Given the description of an element on the screen output the (x, y) to click on. 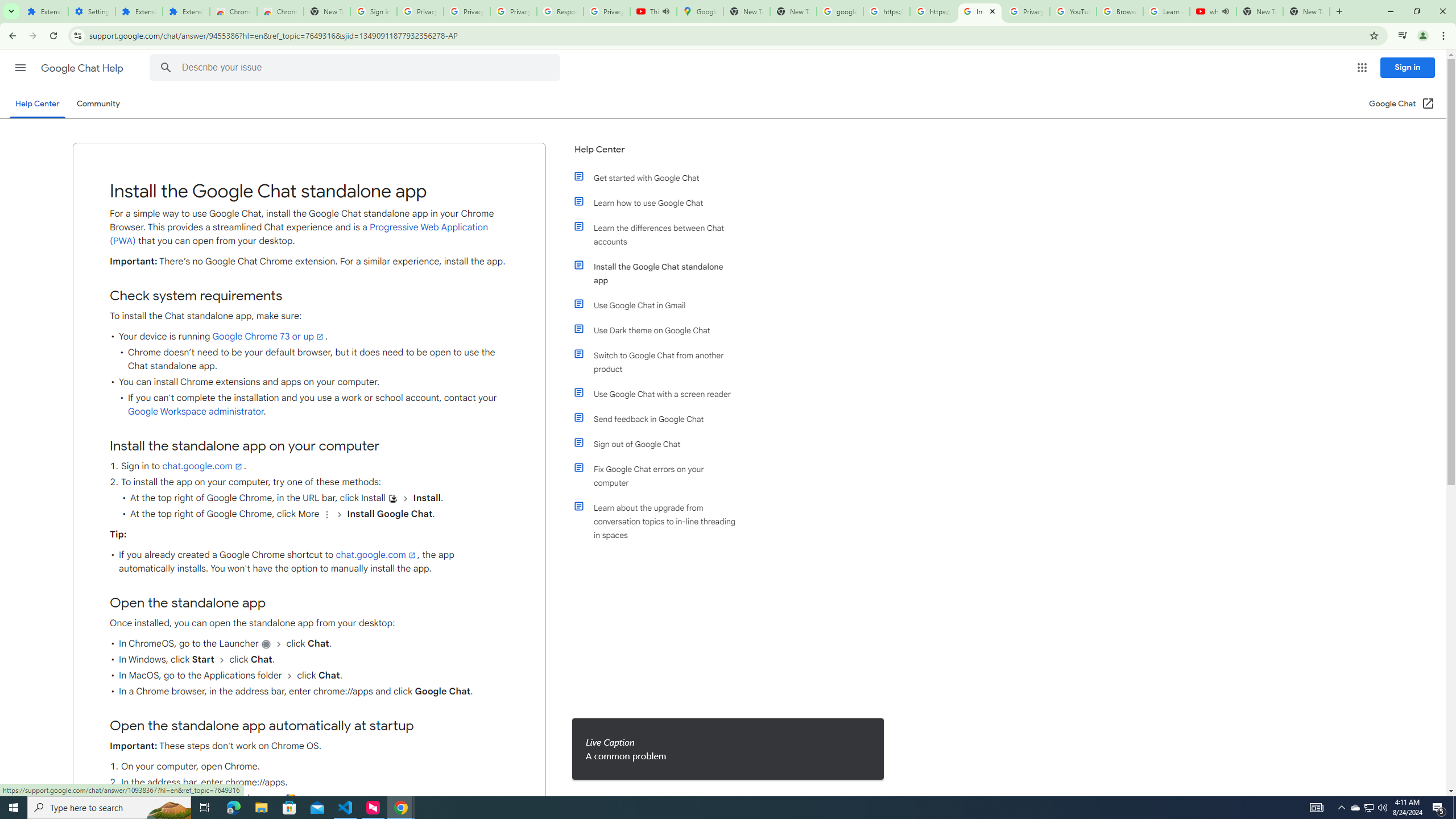
Google Chat Help (82, 68)
Extensions (138, 11)
Extensions (186, 11)
Google Chrome 73 or up (269, 336)
Use Google Chat with a screen reader (661, 394)
and then (289, 675)
Browse Chrome as a guest - Computer - Google Chrome Help (1120, 11)
Mute tab (1225, 10)
